Given the description of an element on the screen output the (x, y) to click on. 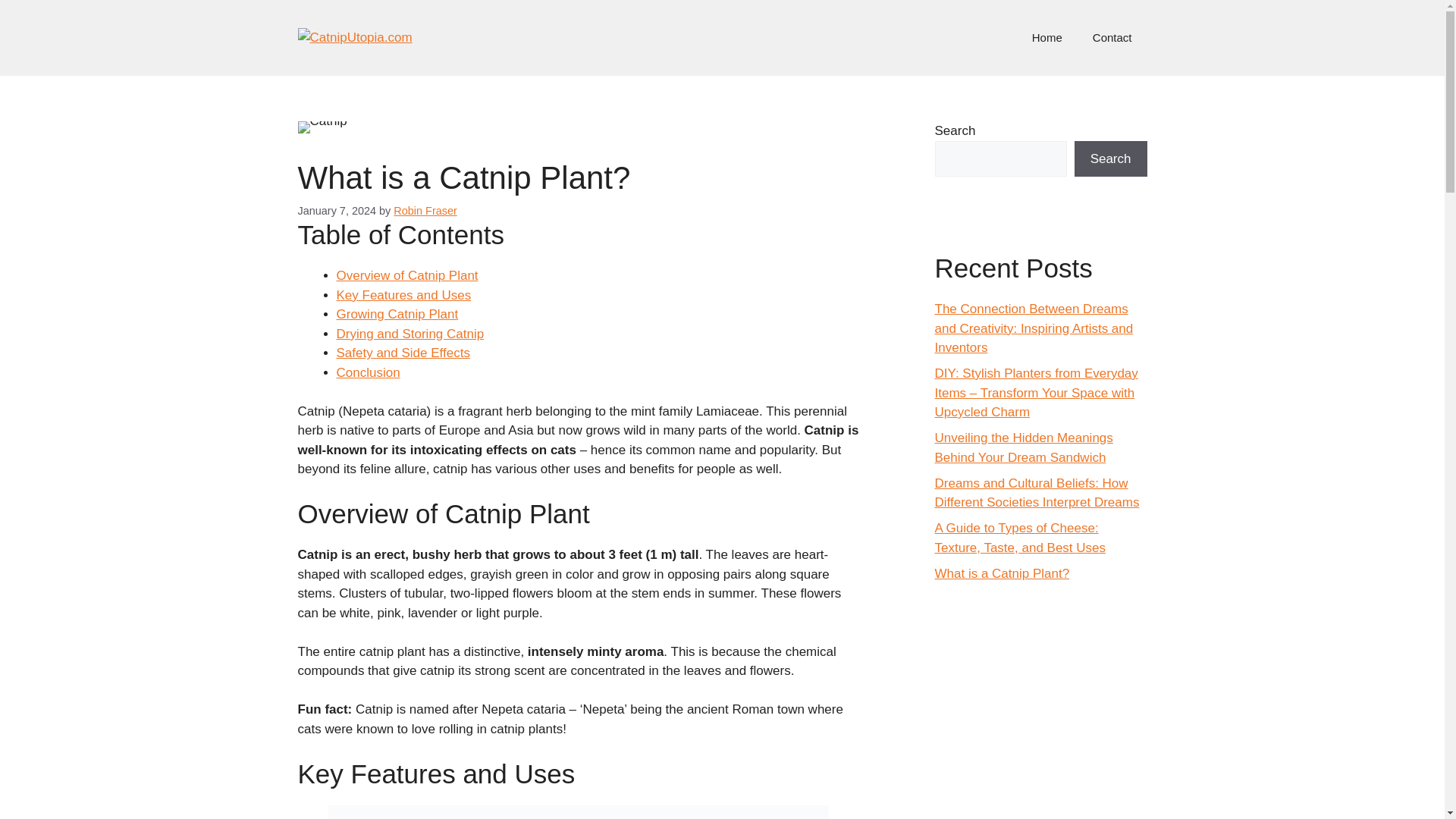
Robin Fraser (425, 210)
Growing Catnip Plant (397, 314)
View all posts by Robin Fraser (425, 210)
Home (1046, 37)
What is a Catnip Plant? 1 (321, 127)
Safety and Side Effects (403, 352)
Overview of Catnip Plant (407, 275)
Unveiling the Hidden Meanings Behind Your Dream Sandwich (1023, 447)
Search (1110, 158)
What is a Catnip Plant? 2 (577, 812)
Contact (1112, 37)
A Guide to Types of Cheese: Texture, Taste, and Best Uses (1019, 537)
What is a Catnip Plant? (1001, 572)
Drying and Storing Catnip (410, 333)
